Given the description of an element on the screen output the (x, y) to click on. 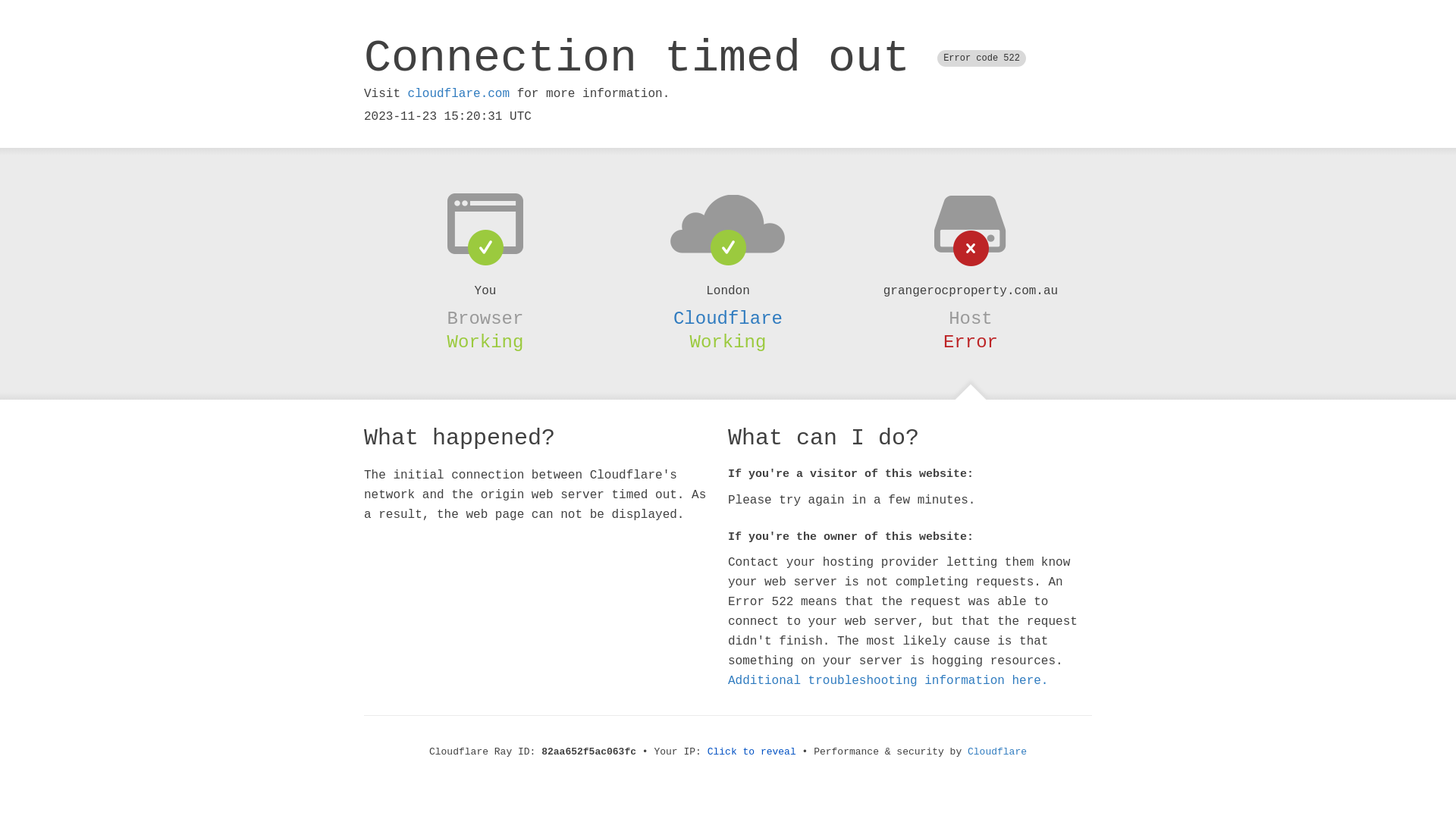
cloudflare.com Element type: text (458, 93)
Cloudflare Element type: text (996, 751)
Additional troubleshooting information here. Element type: text (888, 680)
Click to reveal Element type: text (751, 751)
Cloudflare Element type: text (727, 318)
